Given the description of an element on the screen output the (x, y) to click on. 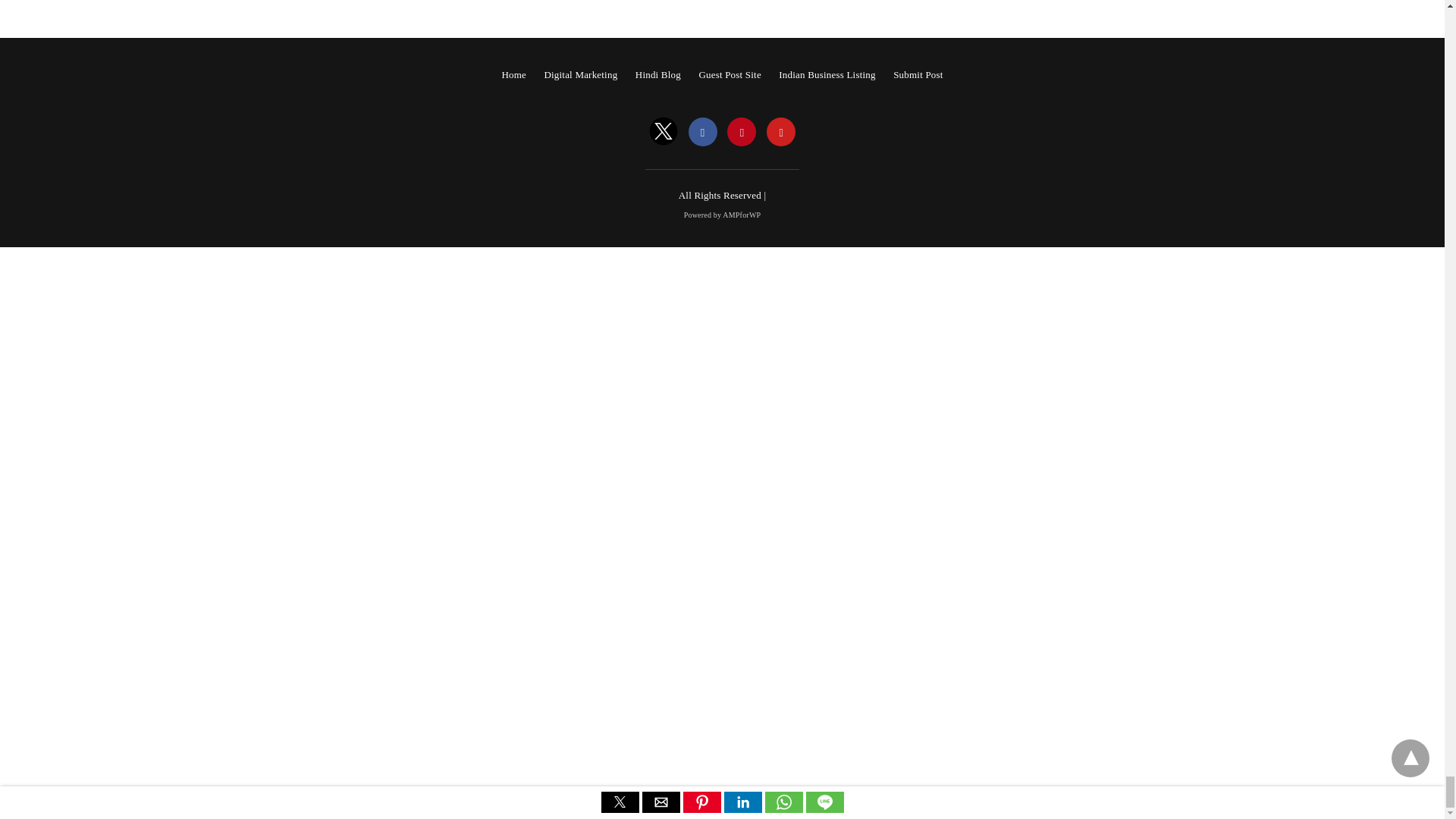
Digital Marketing (580, 74)
Home (512, 74)
twitter profile (663, 132)
